Given the description of an element on the screen output the (x, y) to click on. 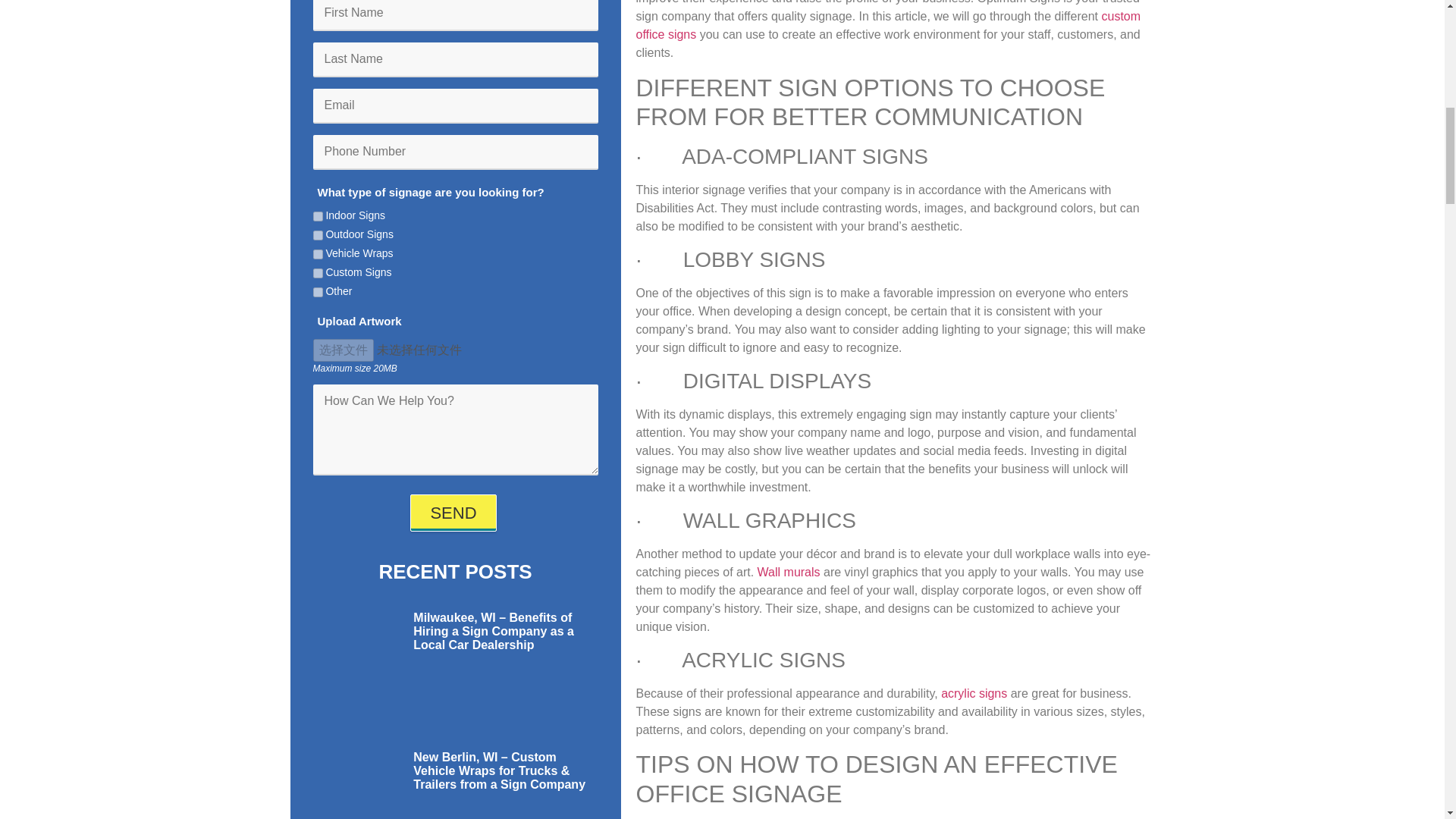
Outdoor Signs (317, 235)
Other (317, 292)
Vehicle Wraps (317, 254)
Indoor Signs (317, 216)
Custom Signs (317, 273)
